Given the description of an element on the screen output the (x, y) to click on. 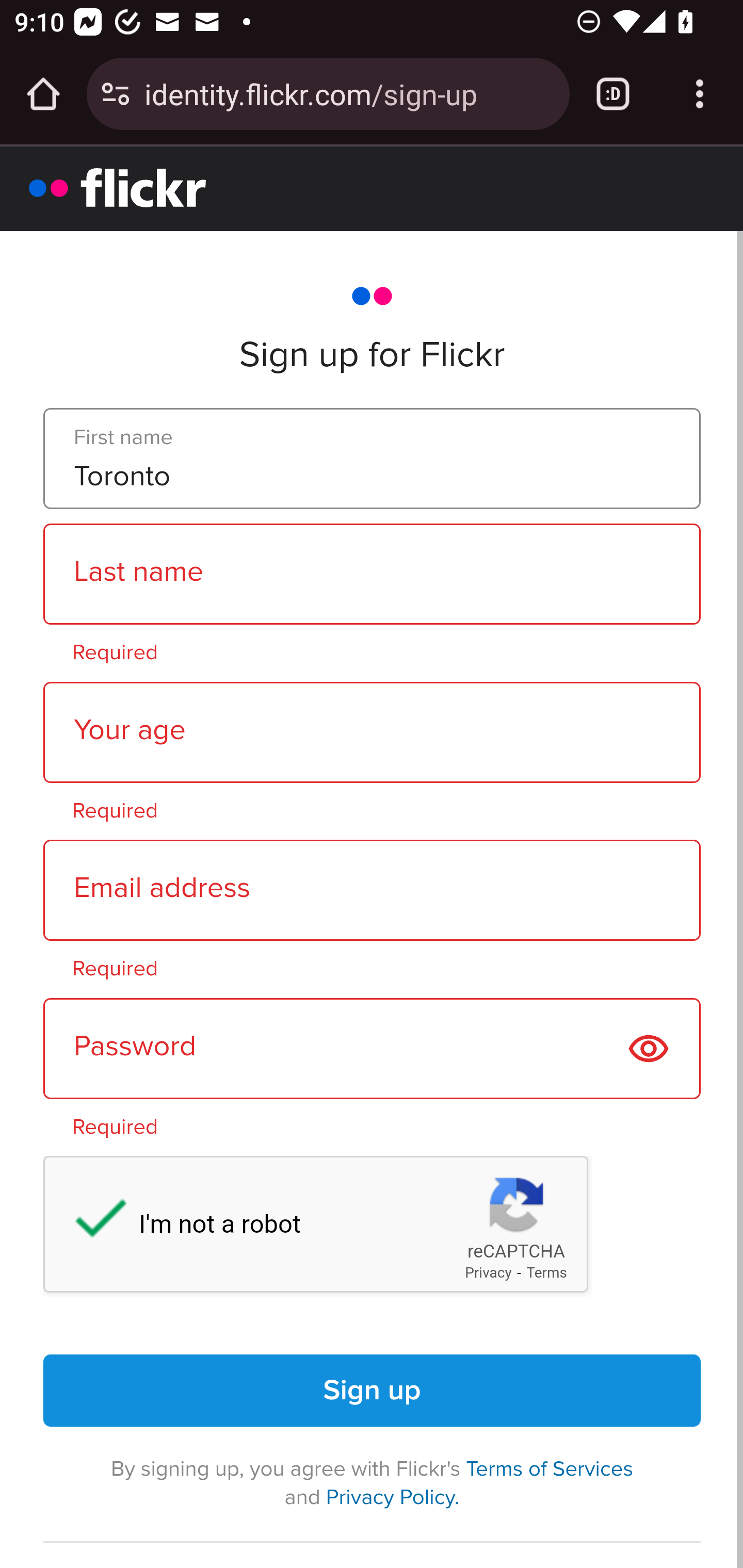
Open the home page (43, 93)
Connection is secure (115, 93)
Switch or close tabs (612, 93)
Customize and control Google Chrome (699, 93)
identity.flickr.com/sign-up (349, 92)
Flickr Logo (117, 186)
Toronto (371, 459)
I'm not a robot (91, 1222)
Privacy (488, 1272)
Terms (546, 1272)
Sign up (372, 1390)
Terms of Services (549, 1469)
Privacy Policy. (392, 1496)
